Given the description of an element on the screen output the (x, y) to click on. 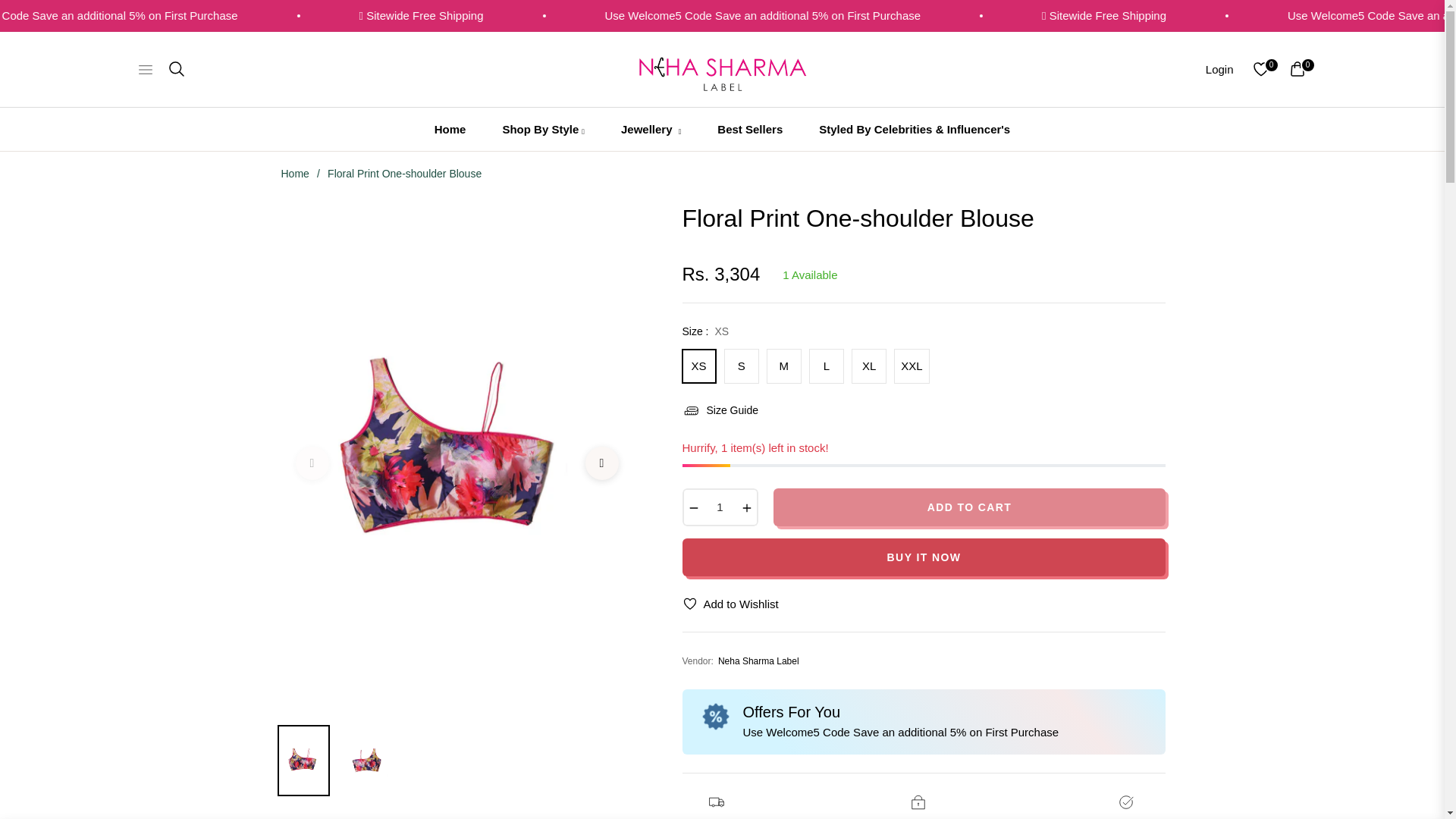
Home (450, 129)
Login (1219, 69)
Home (295, 173)
Your Cart (1296, 68)
Jewellery (650, 129)
1 (720, 507)
Add to Wishlist (730, 604)
Shop By Style (542, 129)
